Given the description of an element on the screen output the (x, y) to click on. 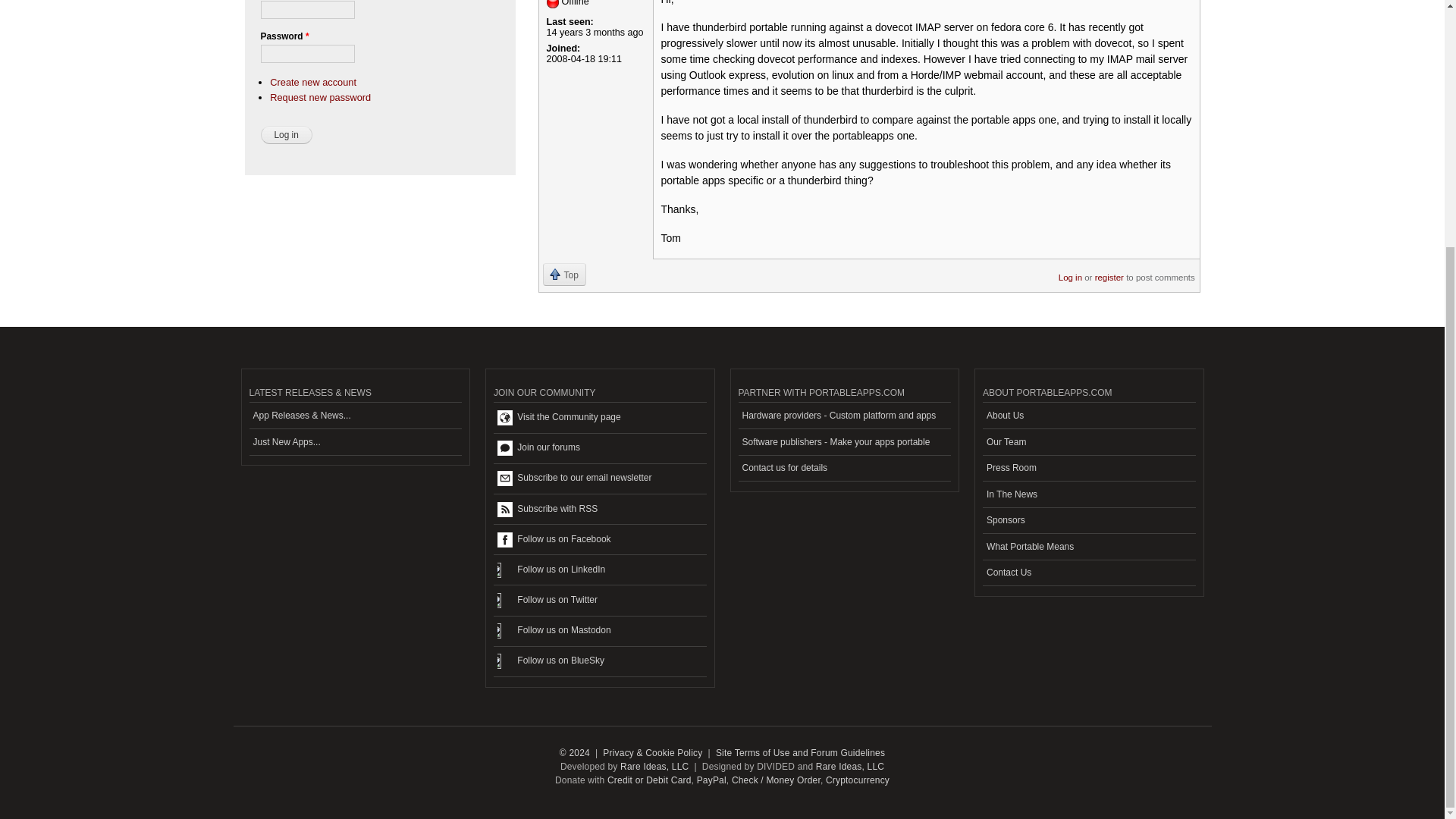
Just New Apps... (354, 442)
Visit the Community page (599, 417)
register (1109, 272)
Log in (286, 135)
Create a new user account. (312, 81)
Top (564, 273)
Subscribe to our email newsletter (599, 479)
Log in (286, 135)
Request new password (320, 97)
Request new password via e-mail. (320, 97)
Jump to top of page (564, 273)
Create new account (312, 81)
Follow us on LinkedIn (599, 570)
Like us on Facebook (599, 539)
Join our forums (599, 449)
